Given the description of an element on the screen output the (x, y) to click on. 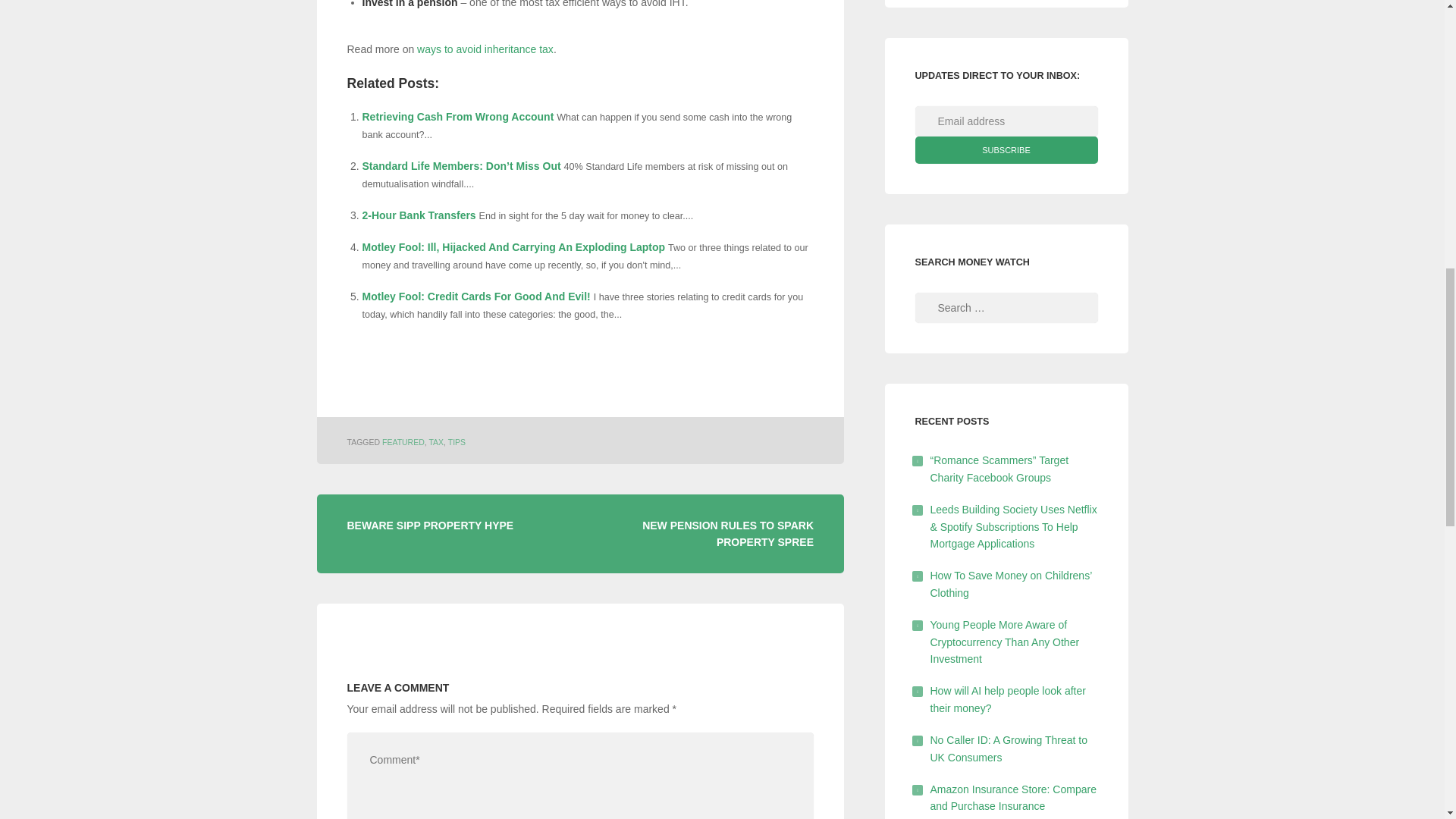
ways to avoid inheritance tax (484, 49)
TAX (436, 441)
Retrieving Cash From Wrong Account (458, 116)
TIPS (456, 441)
Motley Fool: Ill, Hijacked And Carrying An Exploding Laptop (513, 246)
How will AI help people look after their money? (1007, 698)
Subscribe (1005, 149)
Amazon Insurance Store: Compare and Purchase Insurance (1013, 797)
Email address (1005, 121)
FEATURED (403, 441)
Retrieving Cash From Wrong Account (458, 116)
No Caller ID: A Growing Threat to UK Consumers (1008, 747)
Motley Fool: Credit Cards For Good And Evil! (476, 296)
NEW PENSION RULES TO SPARK PROPERTY SPREE (727, 532)
